Given the description of an element on the screen output the (x, y) to click on. 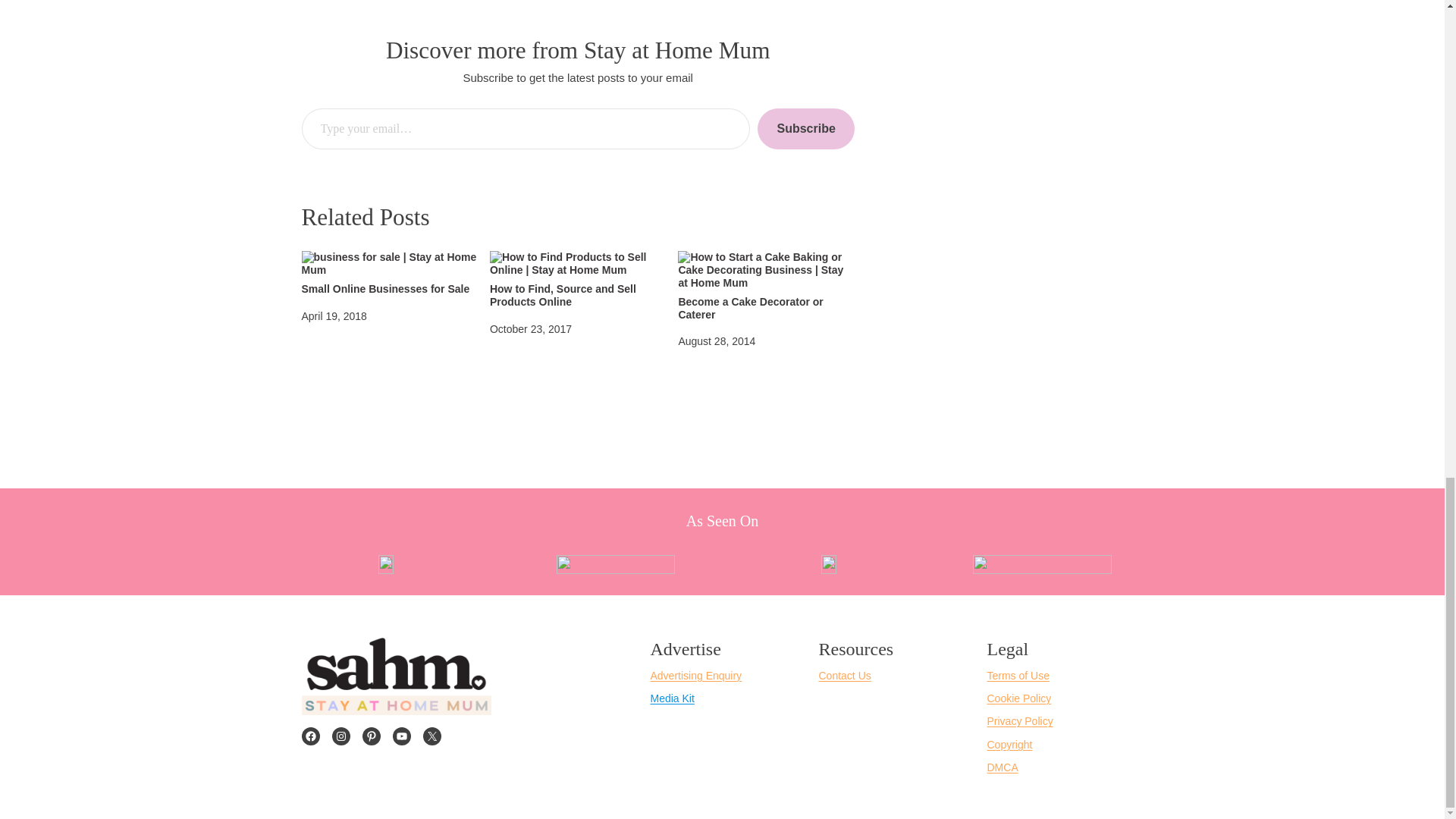
Please fill in this field. (526, 128)
